Given the description of an element on the screen output the (x, y) to click on. 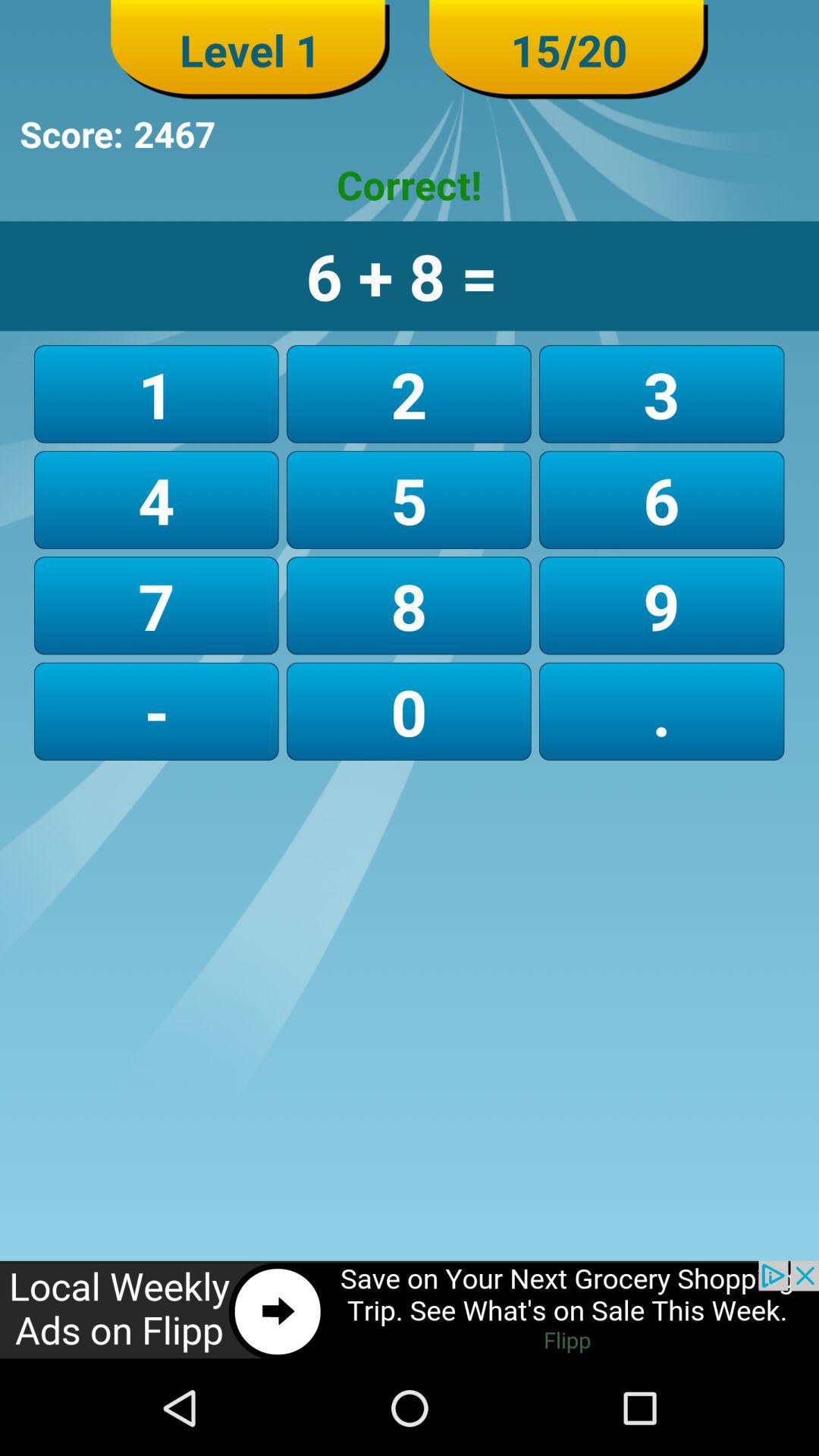
launch button next to the 1 (408, 499)
